Given the description of an element on the screen output the (x, y) to click on. 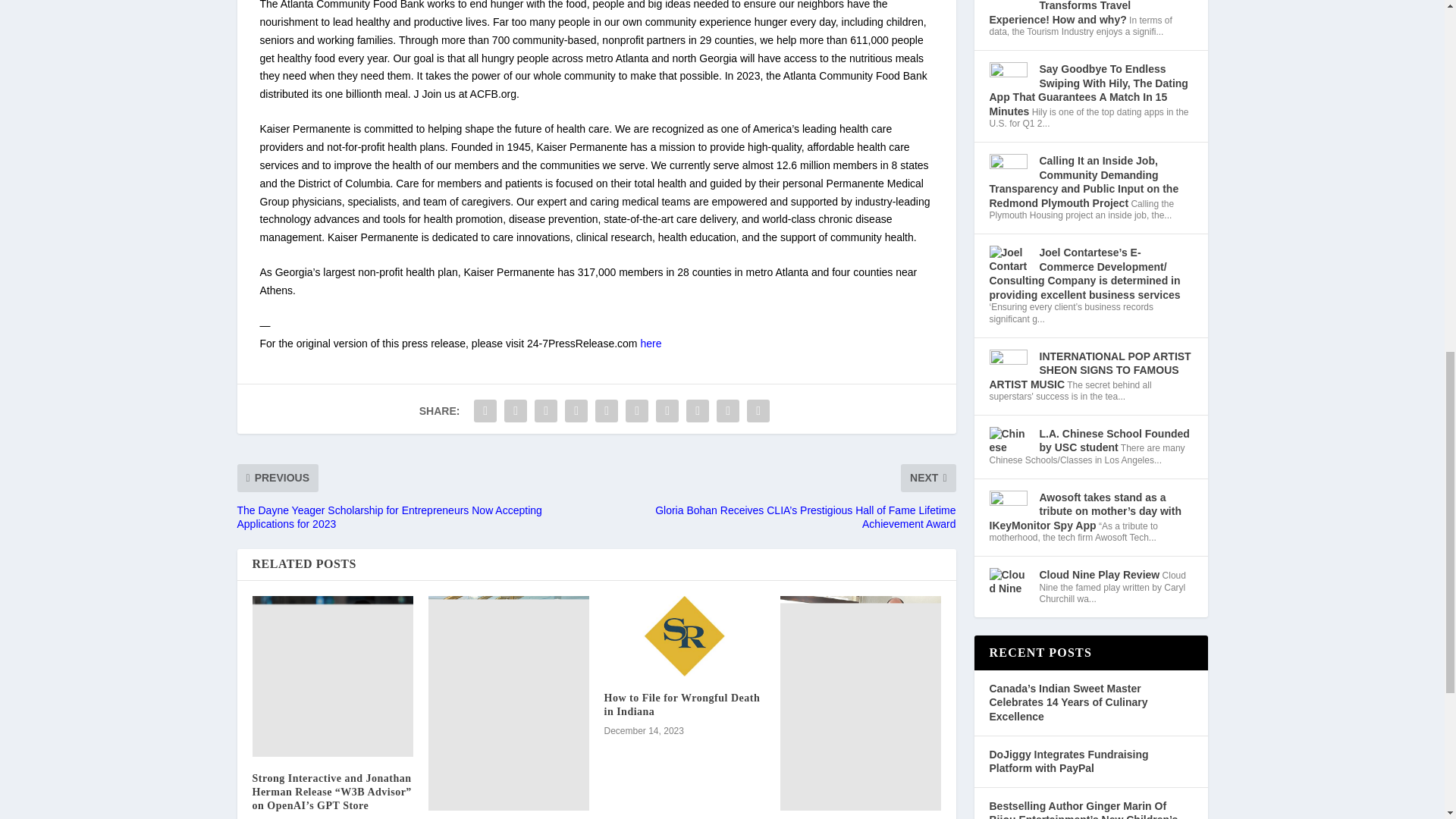
How to File for Wrongful Death in Indiana (684, 636)
here (650, 343)
